Given the description of an element on the screen output the (x, y) to click on. 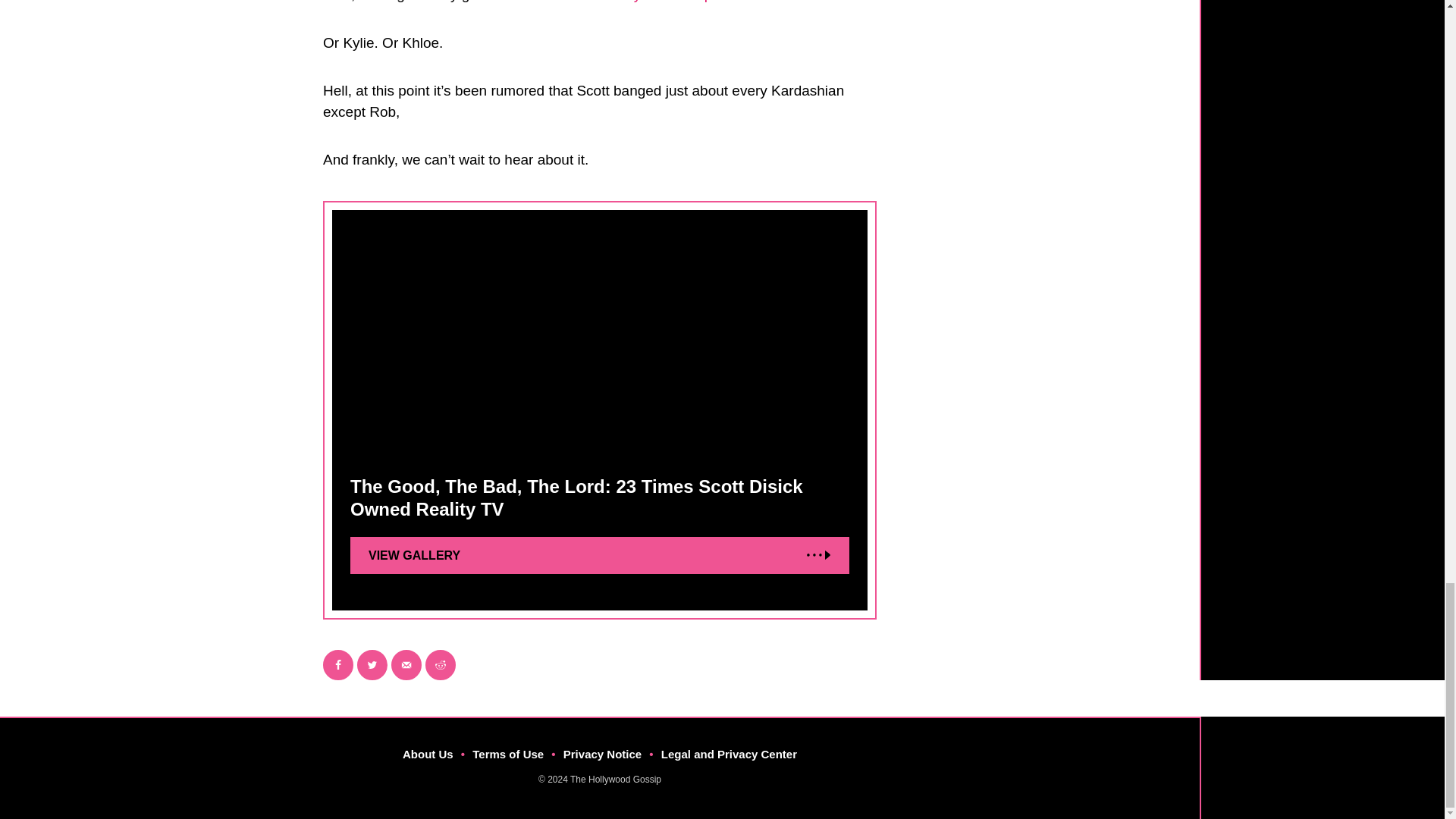
Share on Facebook (338, 665)
Share on Reddit (440, 665)
Share on Twitter (371, 665)
Send over email (406, 665)
